Given the description of an element on the screen output the (x, y) to click on. 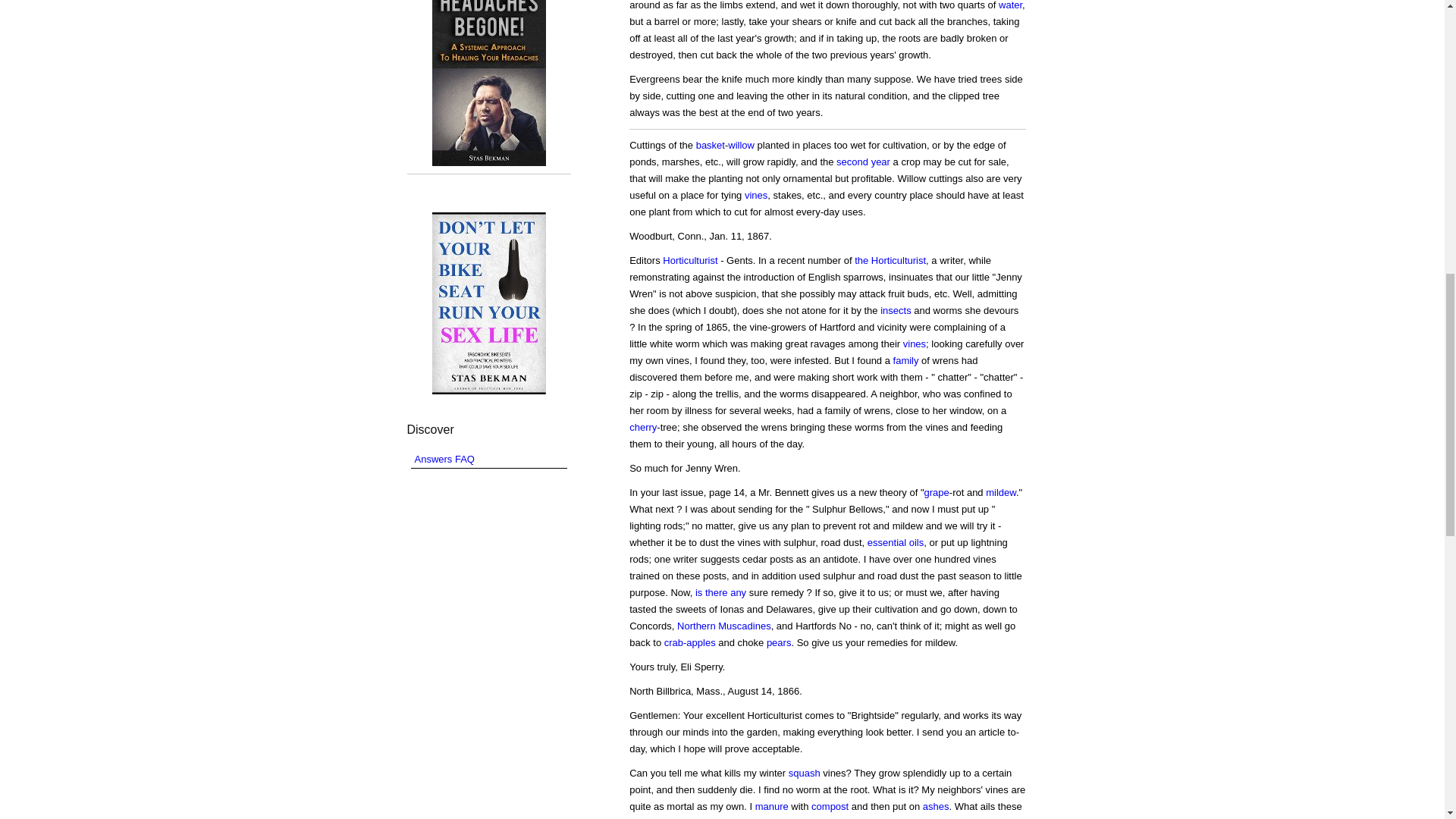
second year (862, 161)
manure (772, 806)
Horticulturist (689, 260)
mildew (1000, 491)
willow (741, 144)
vines (914, 343)
crab-apples (689, 642)
water (1010, 5)
cherry (642, 427)
is there any (720, 592)
pears (779, 642)
insects (895, 310)
essential oils (895, 542)
vines (755, 194)
grape (936, 491)
